Given the description of an element on the screen output the (x, y) to click on. 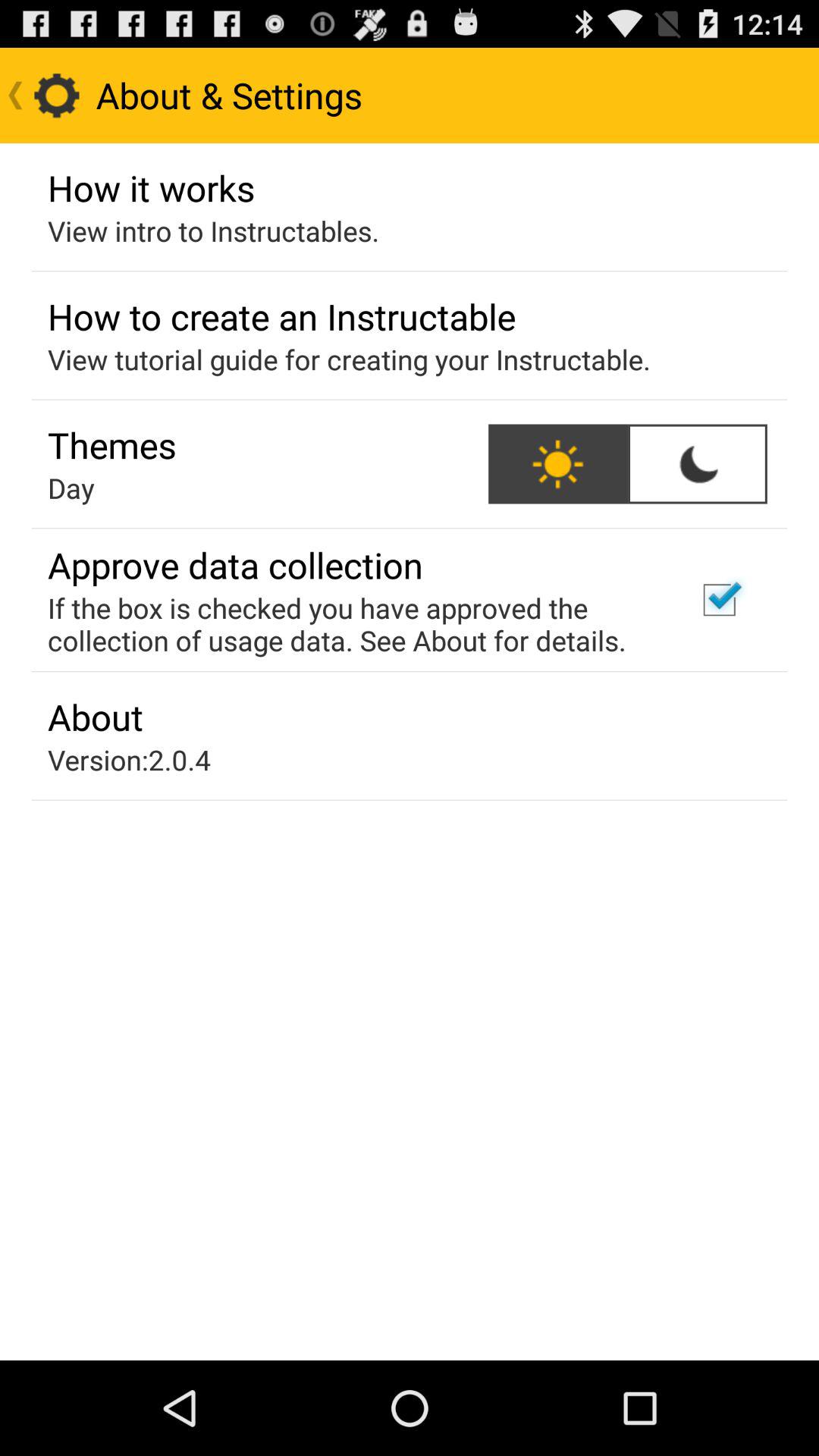
open the icon next to the themes icon (557, 463)
